Given the description of an element on the screen output the (x, y) to click on. 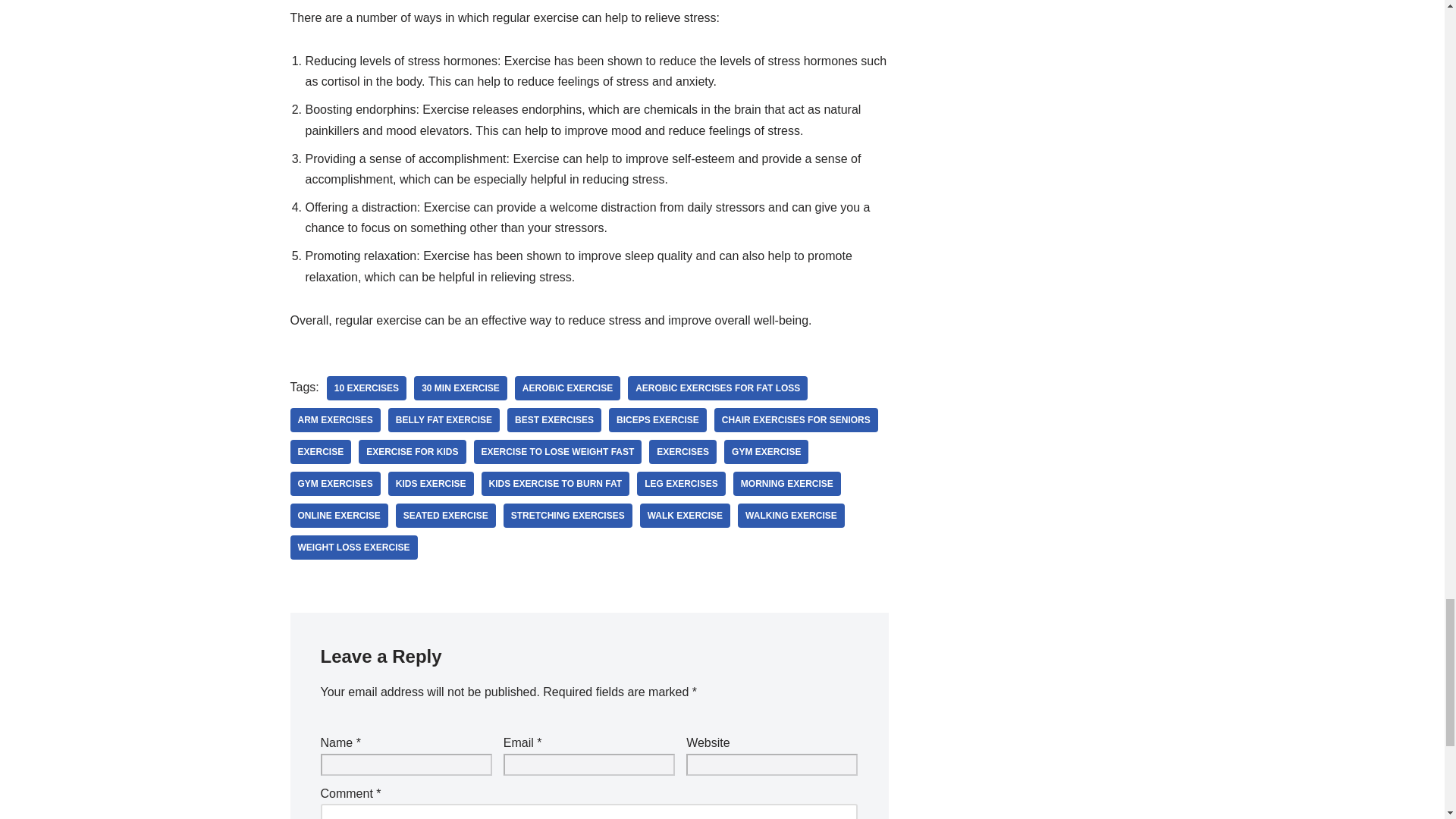
aerobic exercise (567, 387)
KIDS EXERCISE (431, 483)
chair exercises for seniors (795, 419)
EXERCISE TO LOSE WEIGHT FAST (558, 451)
EXERCISES (682, 451)
best exercises (553, 419)
arm exercises (334, 419)
exercise (319, 451)
AEROBIC EXERCISE (567, 387)
EXERCISE (319, 451)
